Given the description of an element on the screen output the (x, y) to click on. 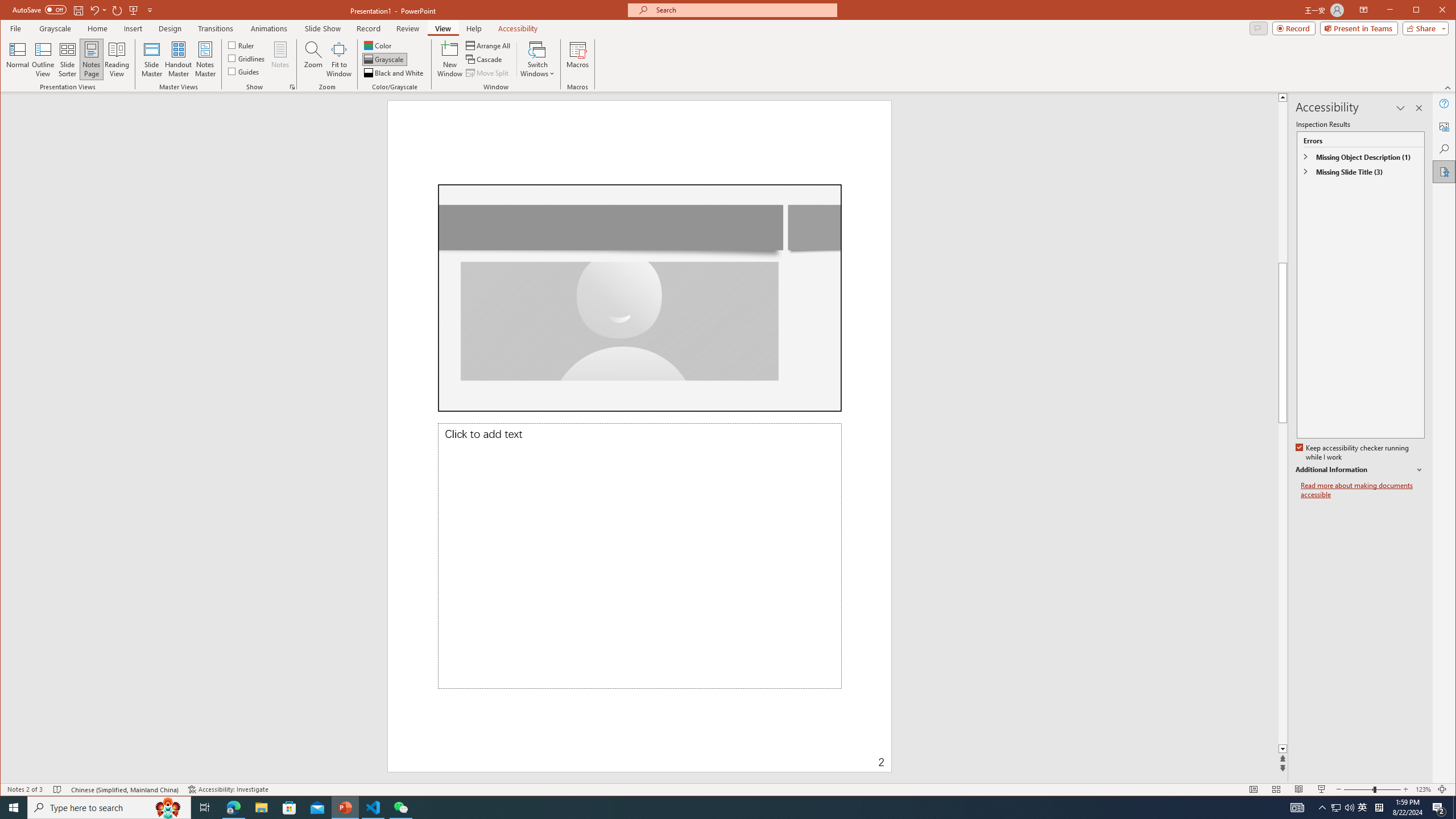
Class: MsoCommandBar (728, 789)
Cascade (484, 59)
Action Center, 2 new notifications (1439, 807)
Notes Page (91, 59)
Tray Input Indicator - Chinese (Simplified, China) (1378, 807)
Page Number (781, 754)
Line up (1427, 96)
